Given the description of an element on the screen output the (x, y) to click on. 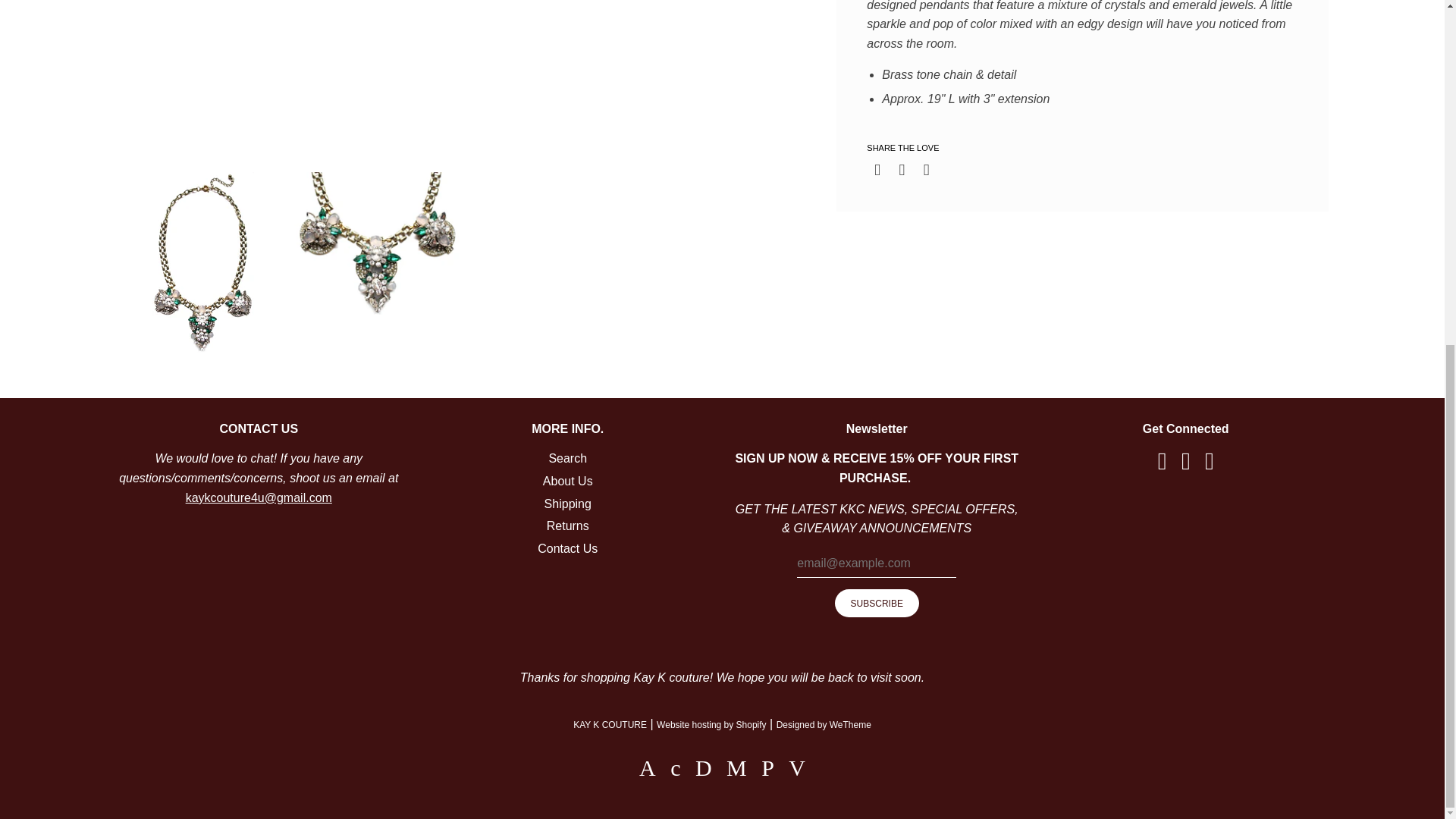
Contact Us (258, 497)
Designed by WeTheme (823, 724)
Subscribe (876, 602)
